Given the description of an element on the screen output the (x, y) to click on. 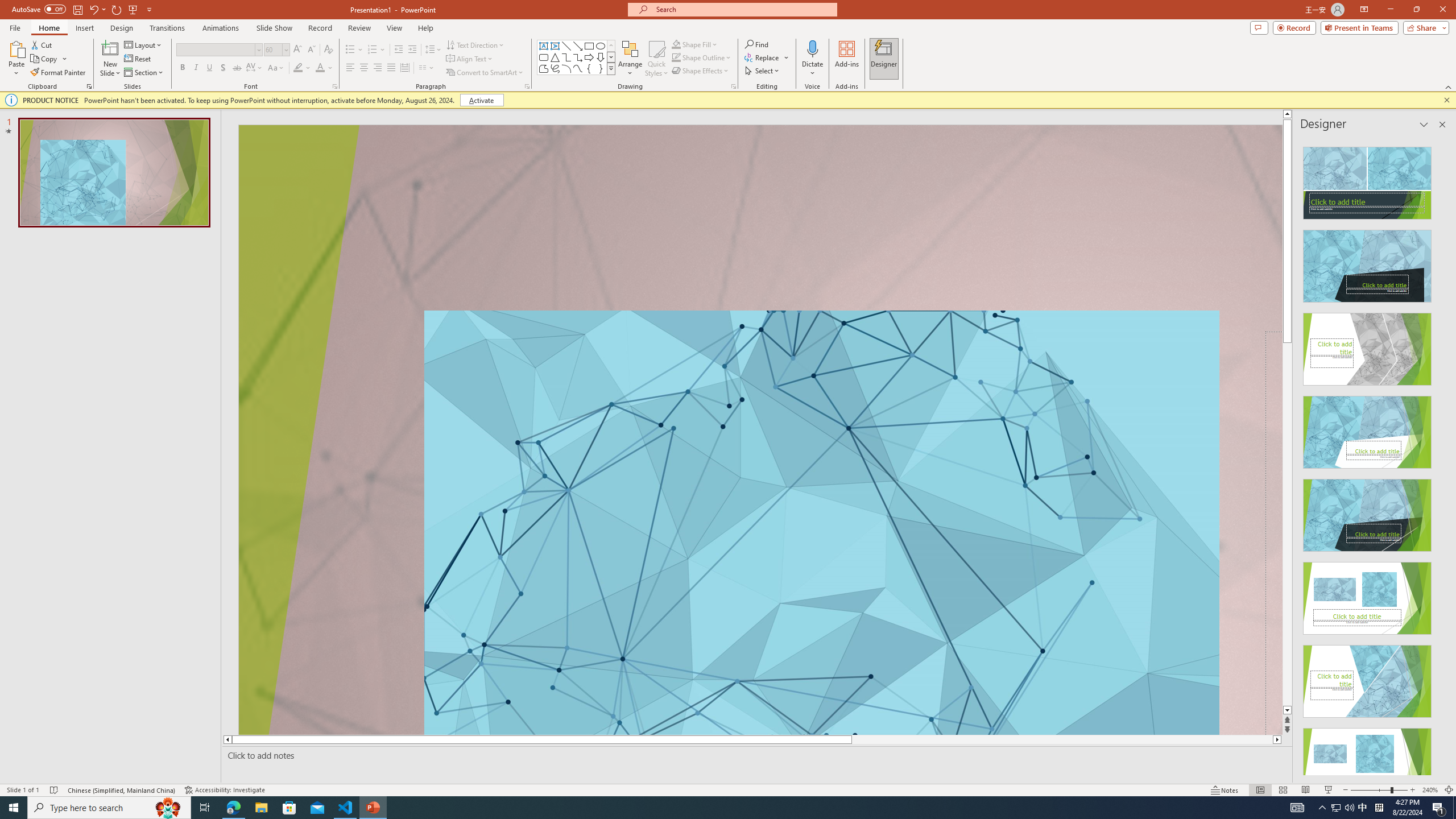
Class: NetUIScrollBar (1441, 456)
Shape Outline Dark Red, Accent 1 (675, 56)
